Given the description of an element on the screen output the (x, y) to click on. 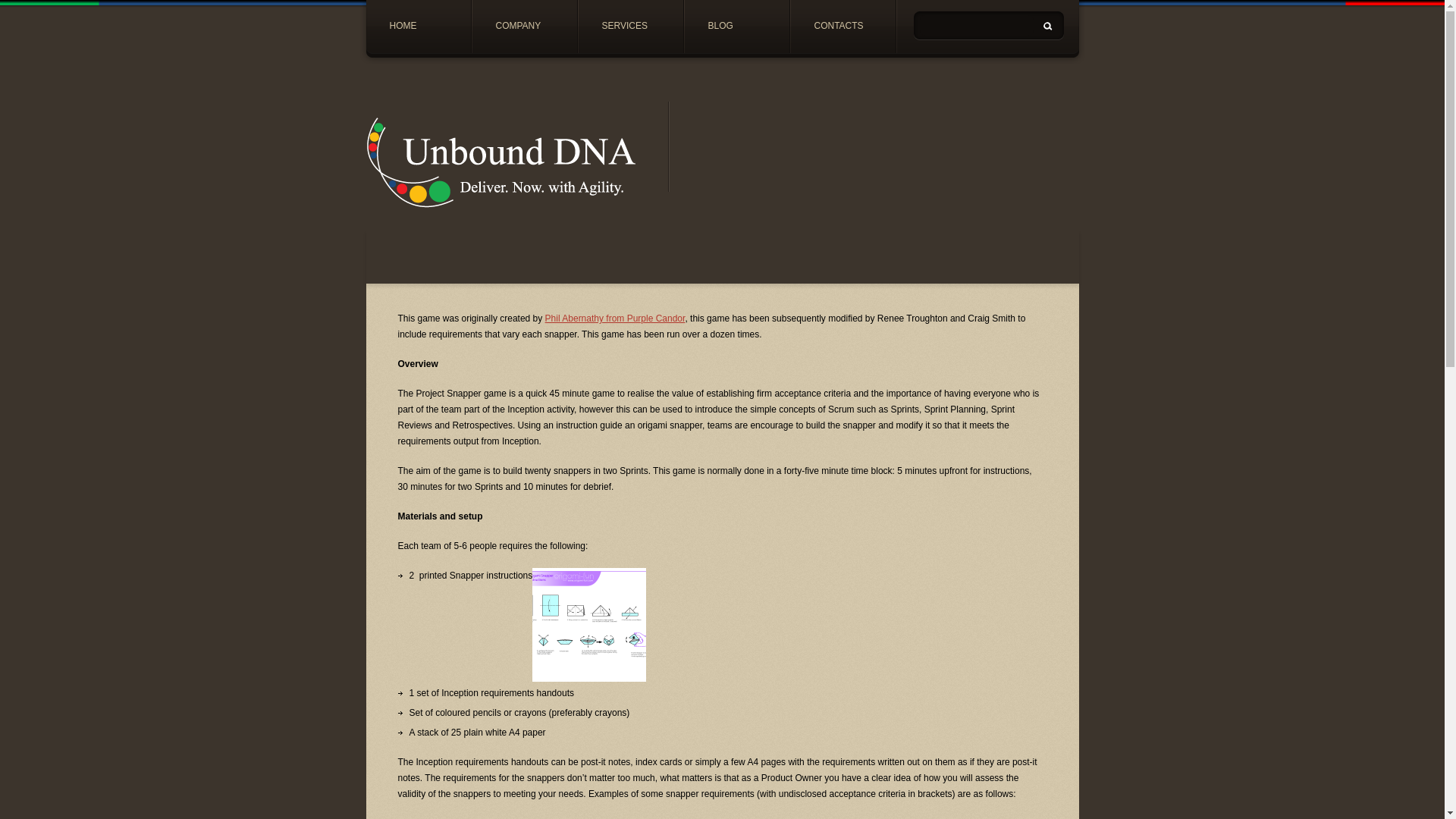
Phil Abernathy from Purple Candor (614, 317)
COMPANY (523, 26)
HOME (417, 26)
SERVICES (630, 26)
CONTACTS (842, 26)
BLOG (736, 26)
Purple Candor (614, 317)
